Given the description of an element on the screen output the (x, y) to click on. 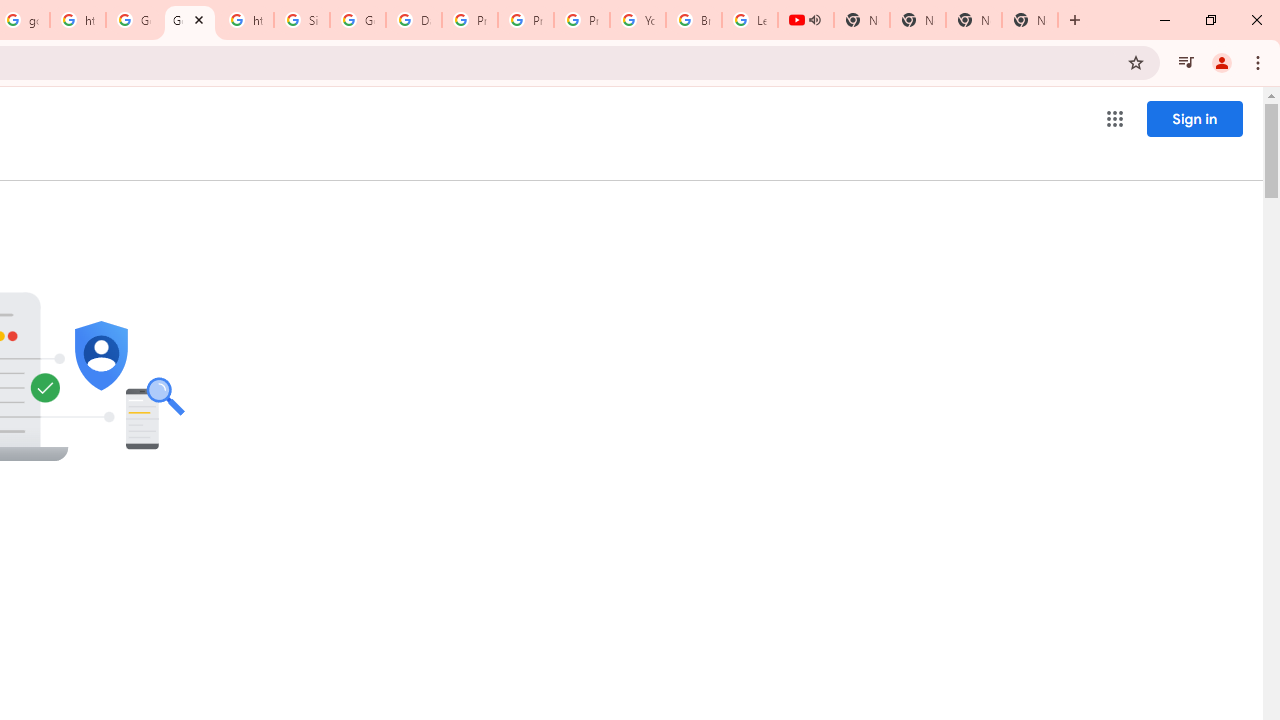
Privacy Help Center - Policies Help (469, 20)
https://scholar.google.com/ (245, 20)
YouTube (637, 20)
